Given the description of an element on the screen output the (x, y) to click on. 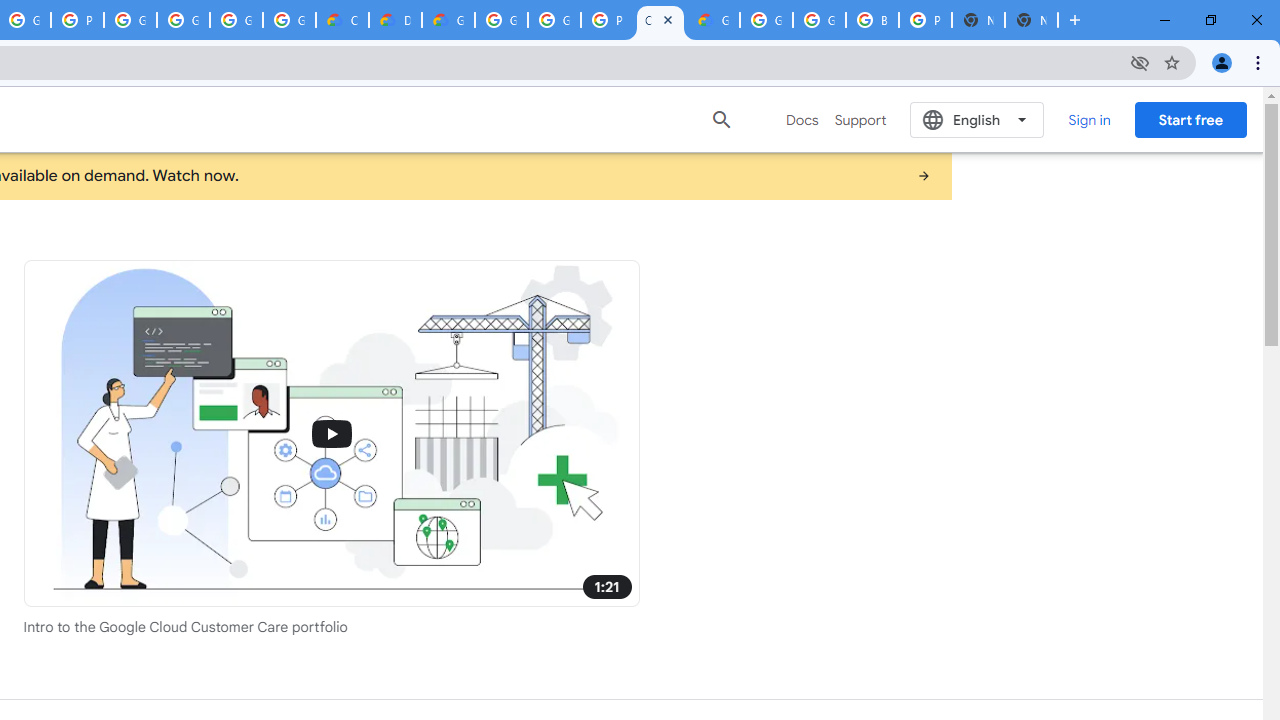
Start free (1190, 119)
Google Workspace - Specific Terms (289, 20)
Google Cloud Platform (501, 20)
Google Workspace - Specific Terms (235, 20)
New Tab (1031, 20)
Support illustration (331, 432)
Customer Care | Google Cloud (660, 20)
Google Cloud Service Health (713, 20)
